Given the description of an element on the screen output the (x, y) to click on. 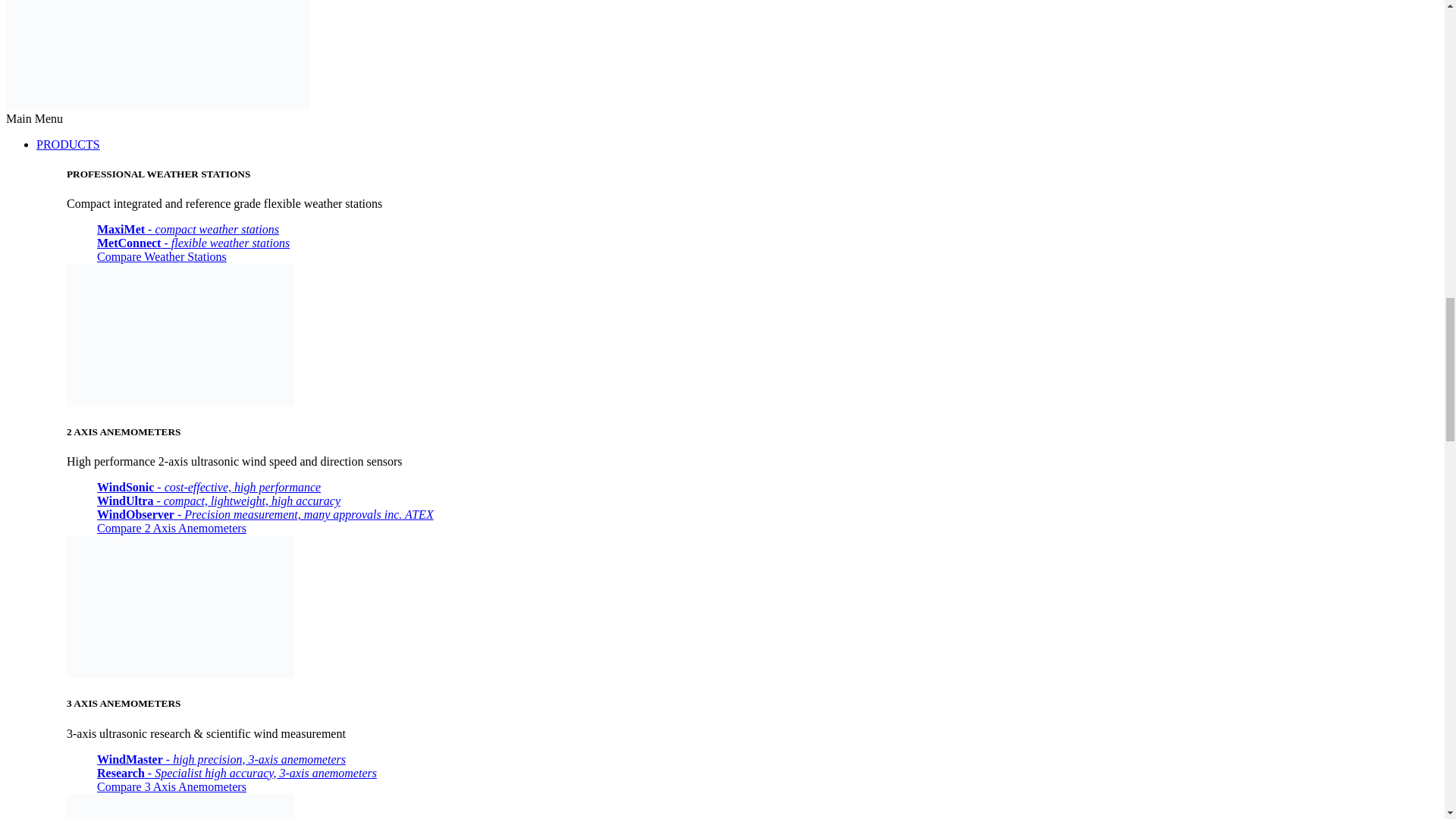
Compare Weather Stations (162, 256)
MaxiMet - compact weather stations (188, 229)
MetConnect - flexible weather stations (193, 243)
PRODUCTS (68, 144)
